Given the description of an element on the screen output the (x, y) to click on. 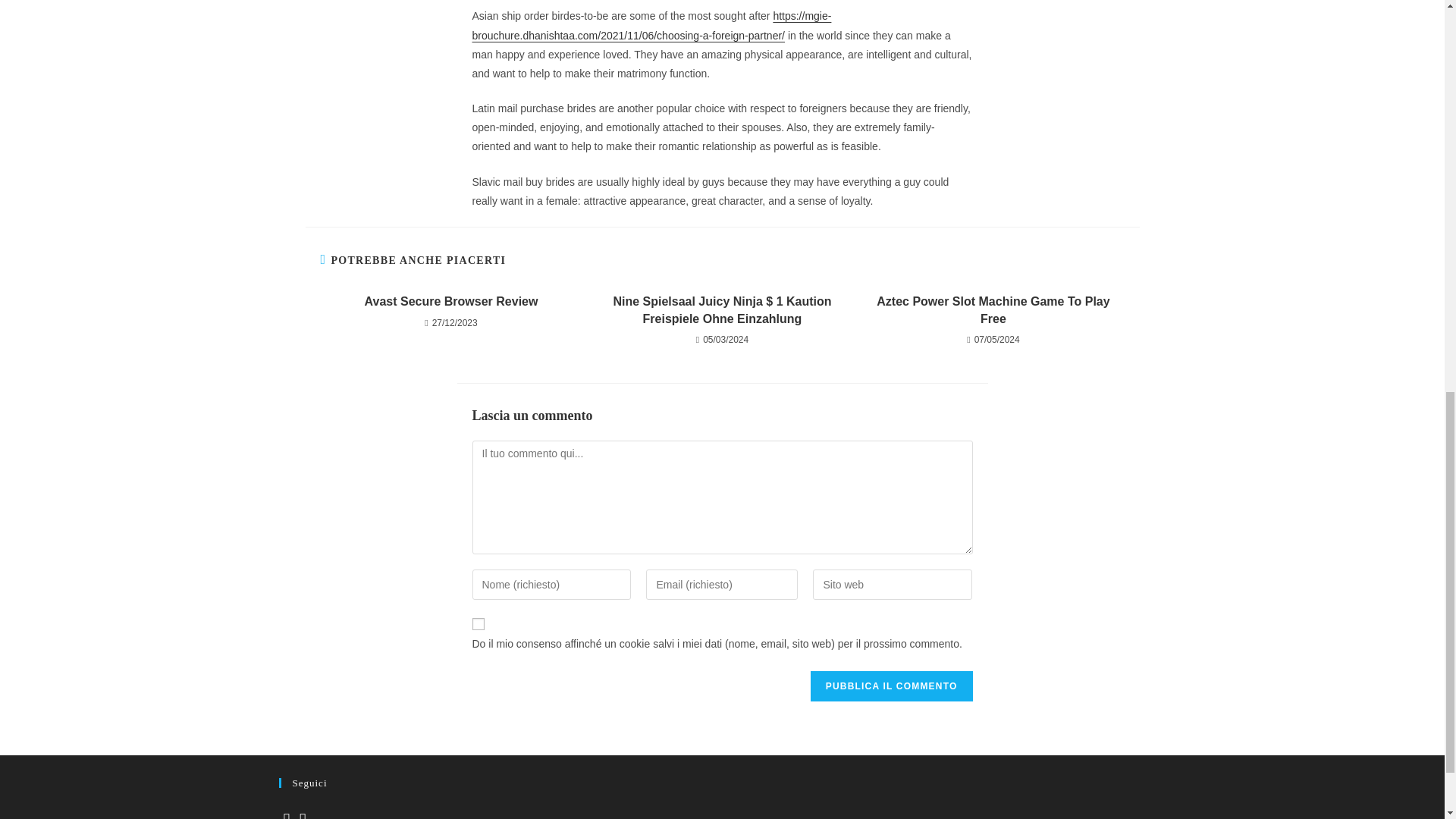
Aztec Power Slot Machine Game To Play Free (992, 310)
Pubblica il commento (891, 685)
yes (477, 623)
Avast Secure Browser Review (450, 301)
Pubblica il commento (891, 685)
